Given the description of an element on the screen output the (x, y) to click on. 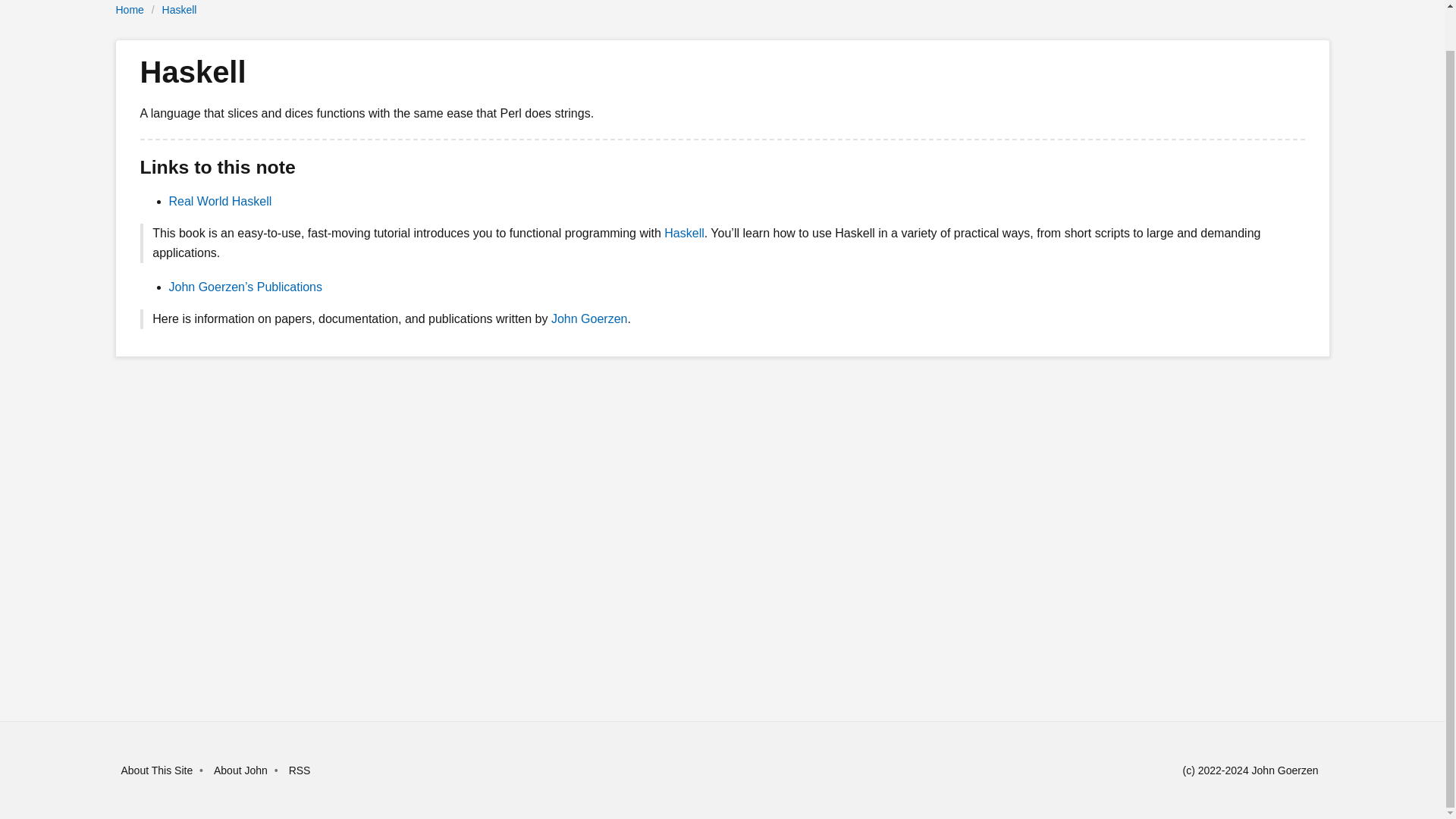
About John (240, 770)
John Goerzen (589, 318)
About This Site (156, 770)
Real World Haskell (219, 201)
About This Site (156, 770)
About John (240, 770)
RSS (299, 770)
Haskell (178, 9)
Haskell (683, 232)
Home (128, 9)
